Given the description of an element on the screen output the (x, y) to click on. 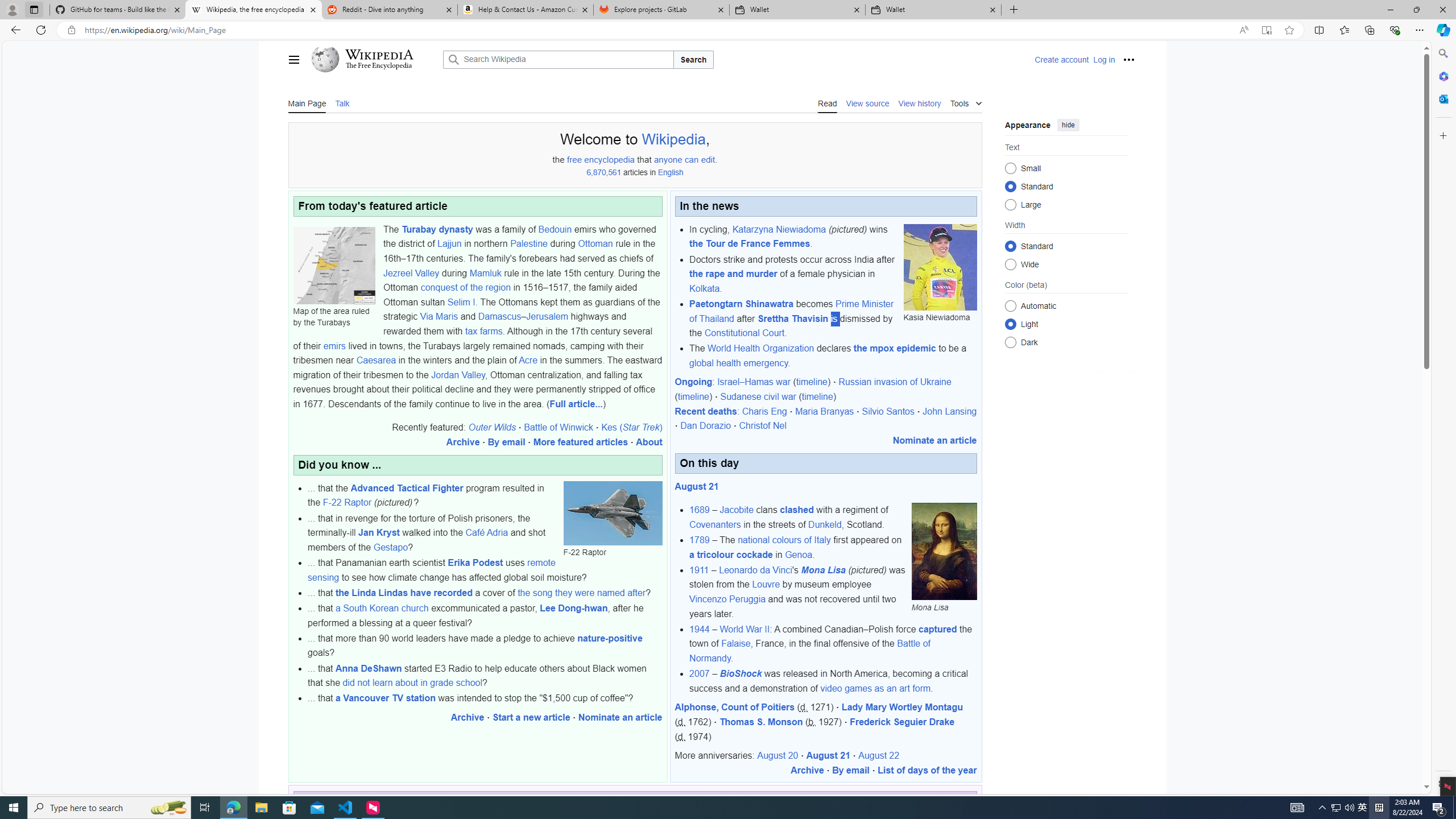
Light (1010, 323)
The Free Encyclopedia (379, 65)
Falaise (735, 643)
a South Korean church (381, 608)
nature-positive (609, 637)
Charis Eng (764, 411)
Close Outlook pane (1442, 98)
Archive (807, 769)
Standard (1010, 245)
Wikipedia (674, 139)
